Given the description of an element on the screen output the (x, y) to click on. 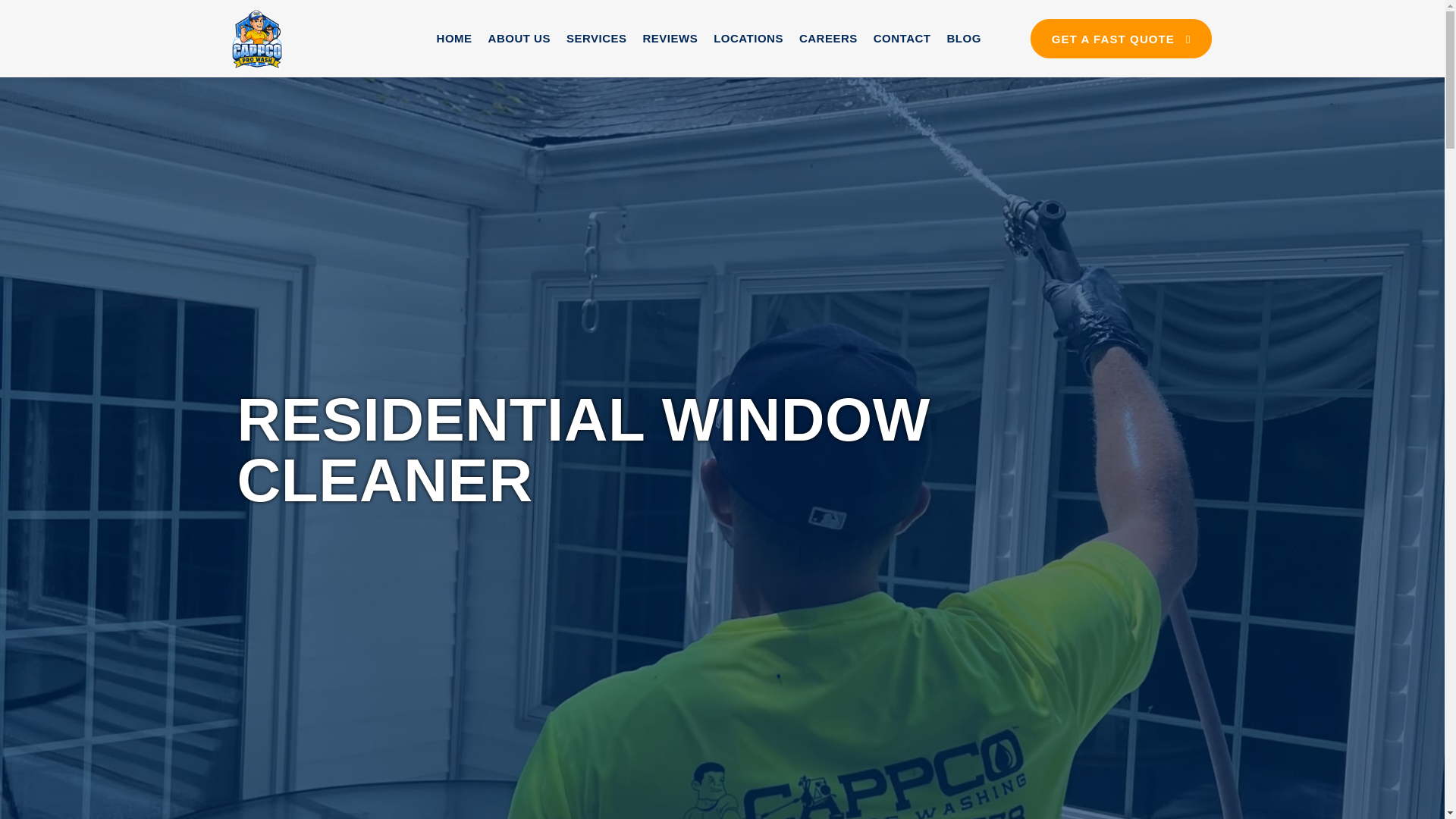
CONTACT (902, 38)
CAREERS (828, 38)
BLOG (962, 38)
LOCATIONS (748, 38)
HOME (453, 38)
GET A FAST QUOTE (1120, 38)
REVIEWS (670, 38)
ABOUT US (518, 38)
SERVICES (596, 38)
